Given the description of an element on the screen output the (x, y) to click on. 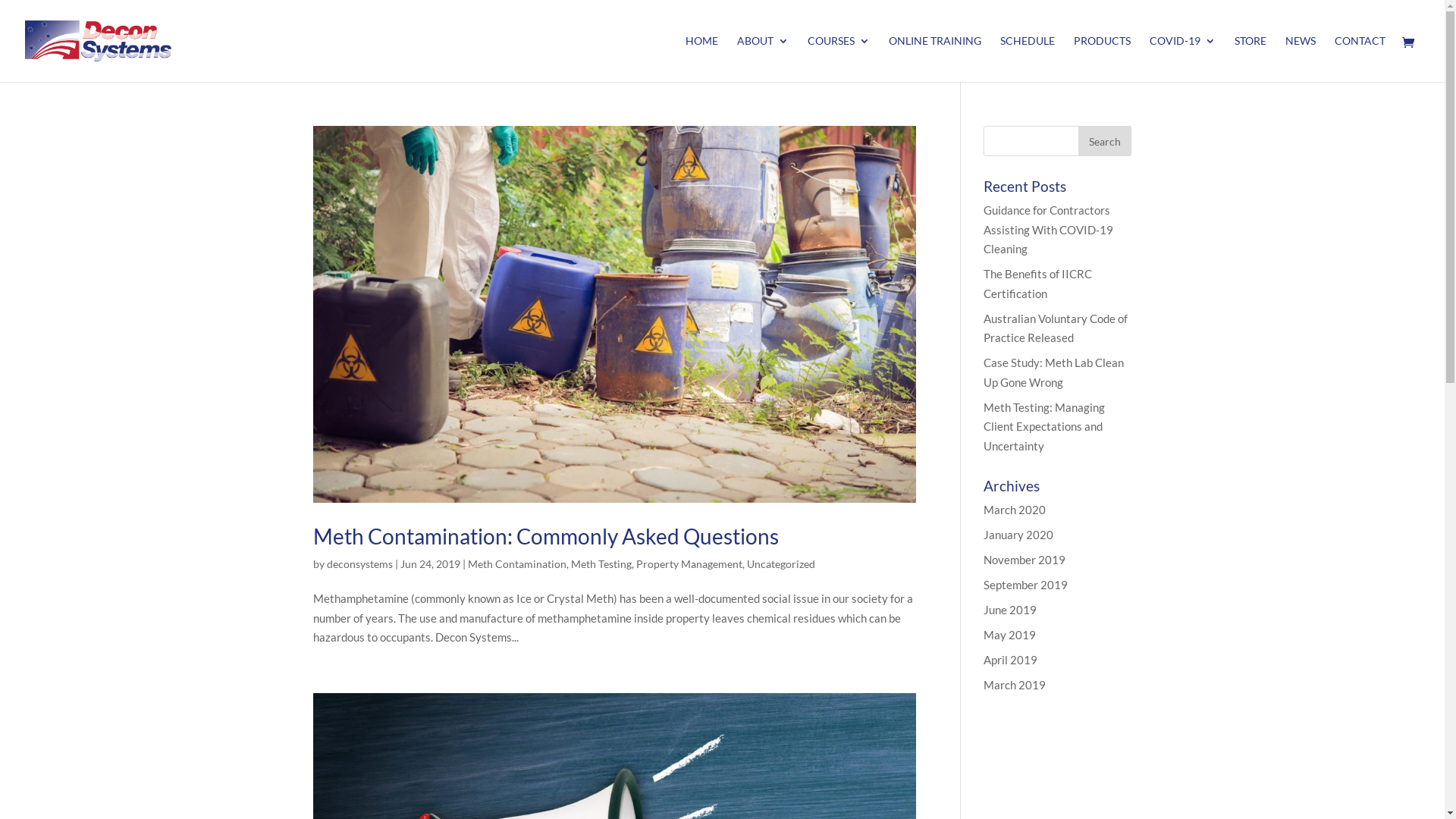
May 2019 Element type: text (1009, 634)
March 2020 Element type: text (1014, 509)
STORE Element type: text (1250, 58)
ABOUT Element type: text (762, 58)
January 2020 Element type: text (1018, 534)
Meth Testing Element type: text (600, 563)
June 2019 Element type: text (1009, 609)
Uncategorized Element type: text (780, 563)
Case Study: Meth Lab Clean Up Gone Wrong Element type: text (1053, 372)
November 2019 Element type: text (1024, 559)
March 2019 Element type: text (1014, 684)
ONLINE TRAINING Element type: text (934, 58)
Australian Voluntary Code of Practice Released Element type: text (1055, 327)
NEWS Element type: text (1300, 58)
Search Element type: text (1104, 140)
Guidance for Contractors Assisting With COVID-19 Cleaning Element type: text (1048, 229)
HOME Element type: text (701, 58)
April 2019 Element type: text (1010, 659)
PRODUCTS Element type: text (1101, 58)
Meth Testing: Managing Client Expectations and Uncertainty Element type: text (1043, 426)
SCHEDULE Element type: text (1027, 58)
COVID-19 Element type: text (1182, 58)
CONTACT Element type: text (1359, 58)
Property Management Element type: text (688, 563)
Meth Contamination: Commonly Asked Questions Element type: text (545, 536)
September 2019 Element type: text (1025, 584)
The Benefits of IICRC Certification Element type: text (1037, 283)
Meth Contamination Element type: text (516, 563)
deconsystems Element type: text (359, 563)
COURSES Element type: text (838, 58)
